Given the description of an element on the screen output the (x, y) to click on. 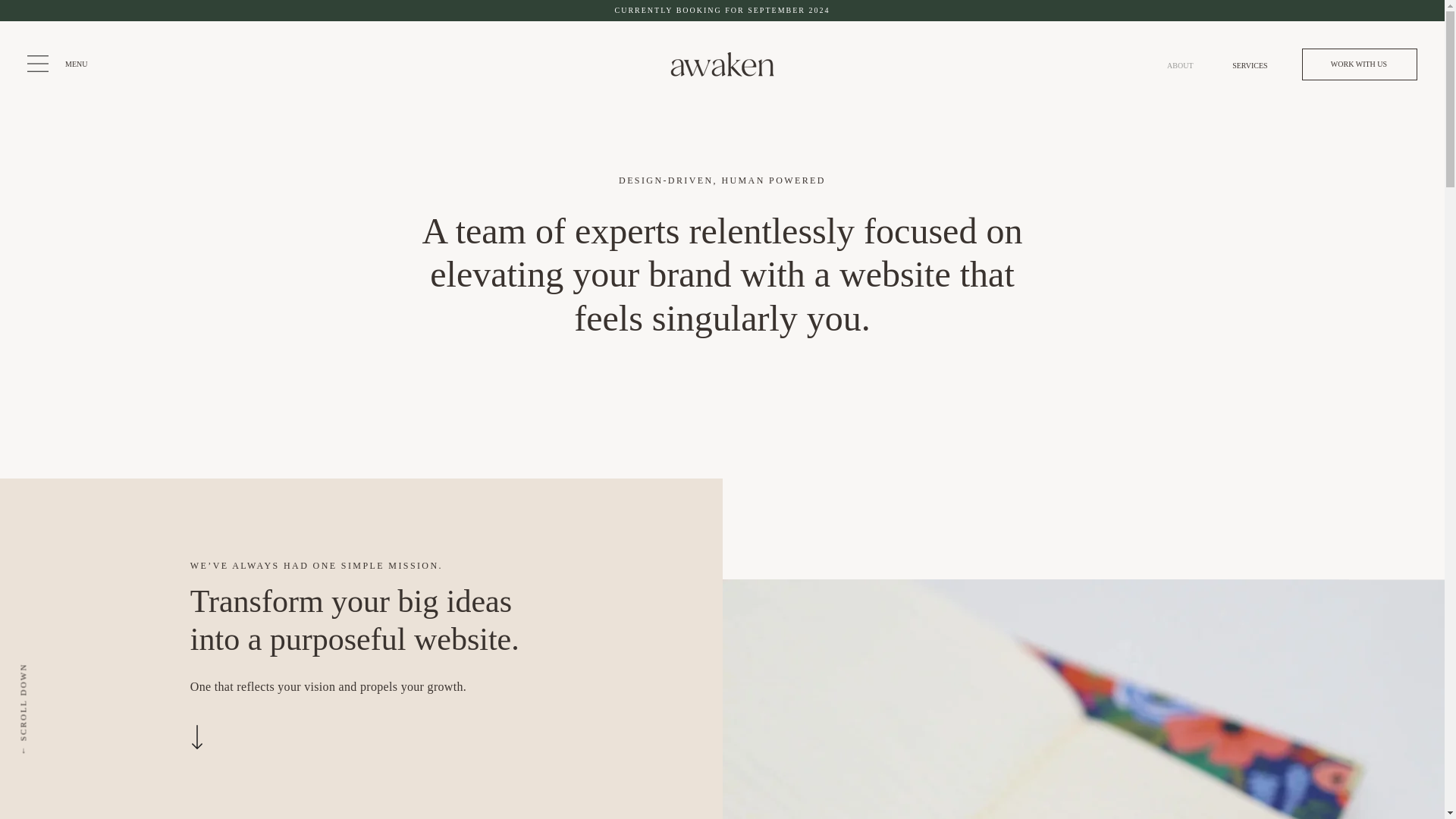
WORK WITH US (1358, 64)
ABOUT (1175, 65)
SERVICES (1242, 65)
MENU (76, 63)
